Given the description of an element on the screen output the (x, y) to click on. 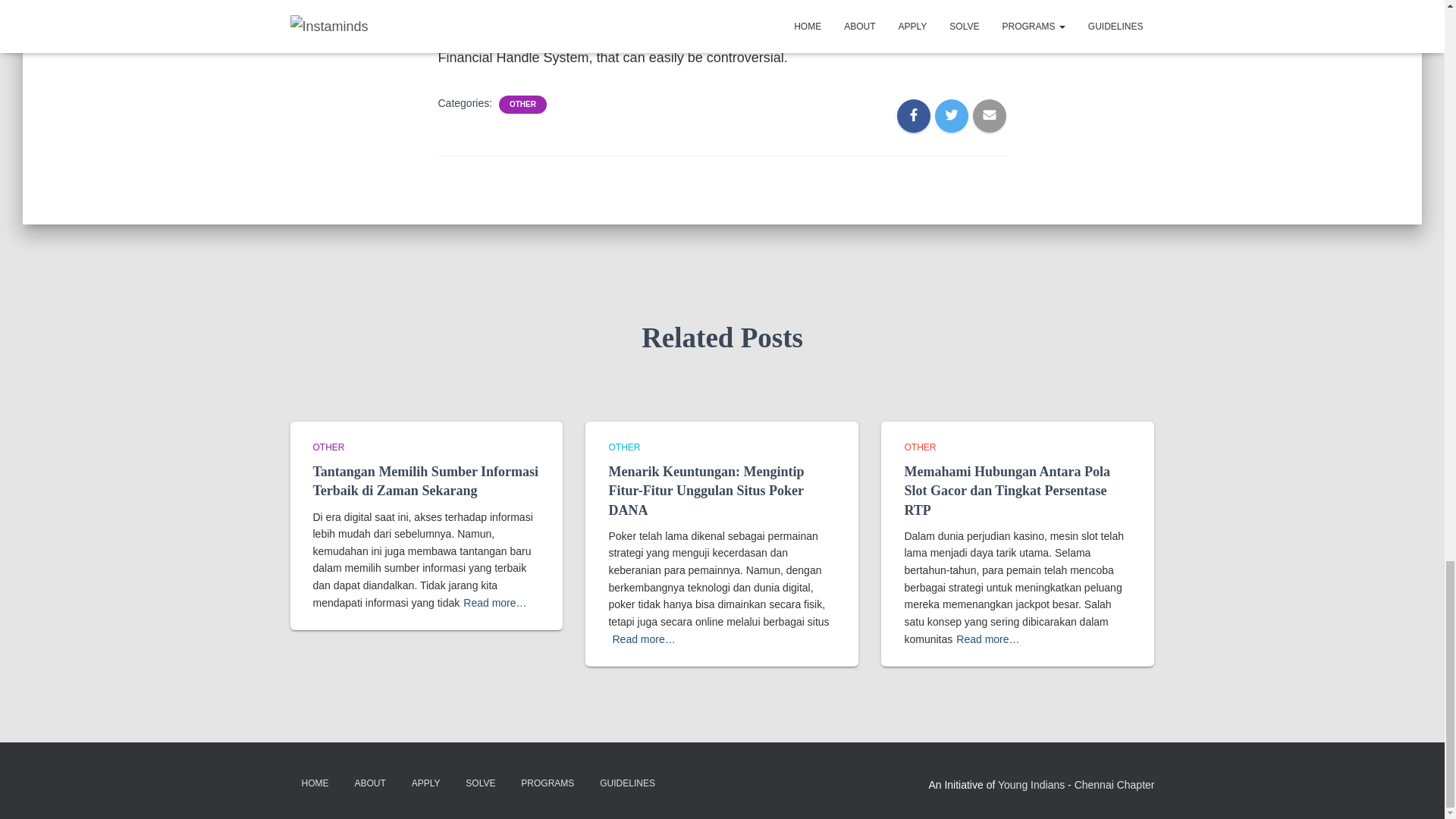
ABOUT (369, 783)
SOLVE (480, 783)
Tantangan Memilih Sumber Informasi Terbaik di Zaman Sekarang (425, 480)
OTHER (328, 447)
View all posts in Other (328, 447)
OTHER (522, 104)
OTHER (624, 447)
Young Indians - Chennai Chapter (1075, 784)
View all posts in Other (920, 447)
Tantangan Memilih Sumber Informasi Terbaik di Zaman Sekarang (425, 480)
HOME (314, 783)
GUIDELINES (627, 783)
